Given the description of an element on the screen output the (x, y) to click on. 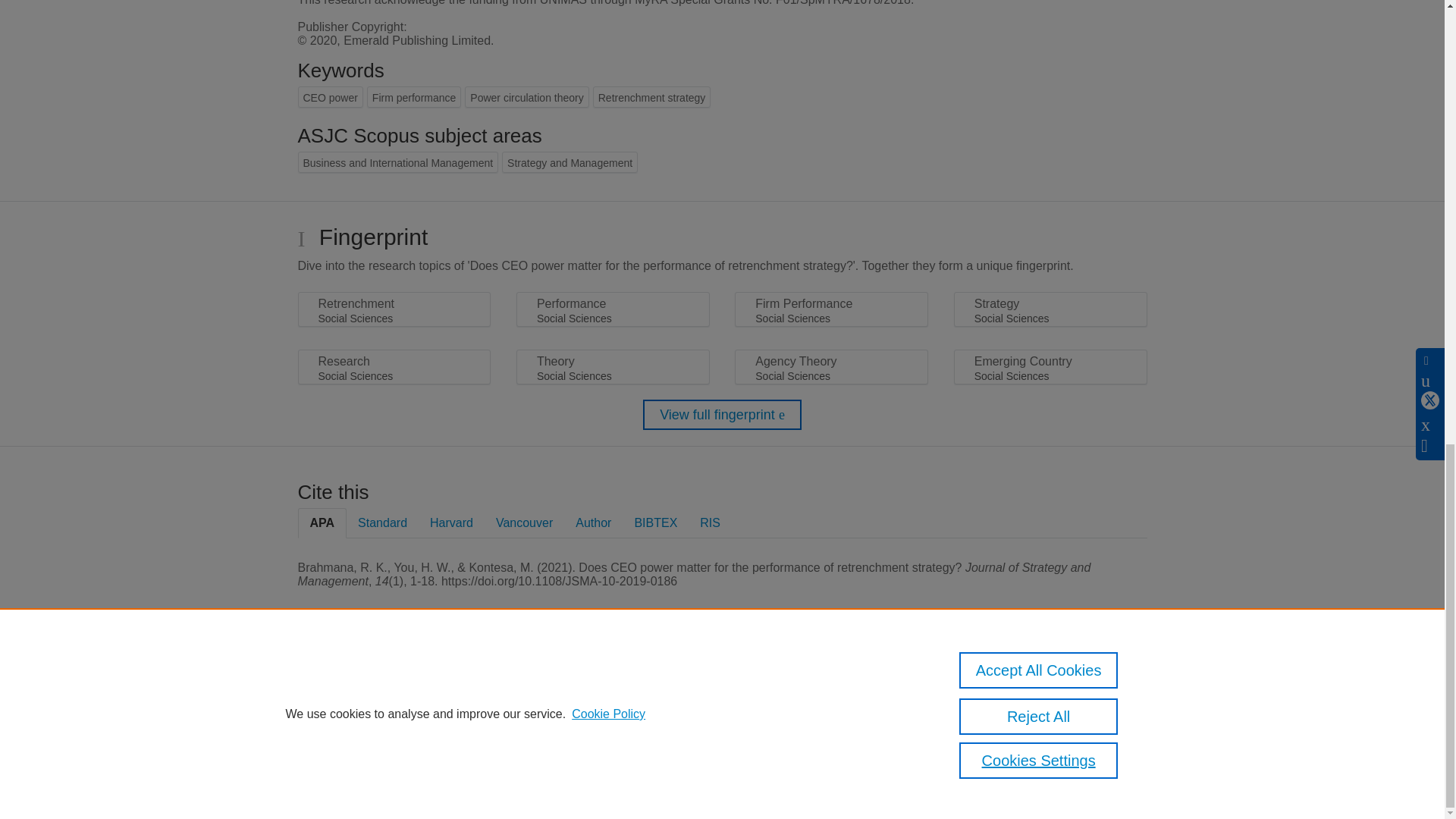
View full fingerprint (722, 414)
